Given the description of an element on the screen output the (x, y) to click on. 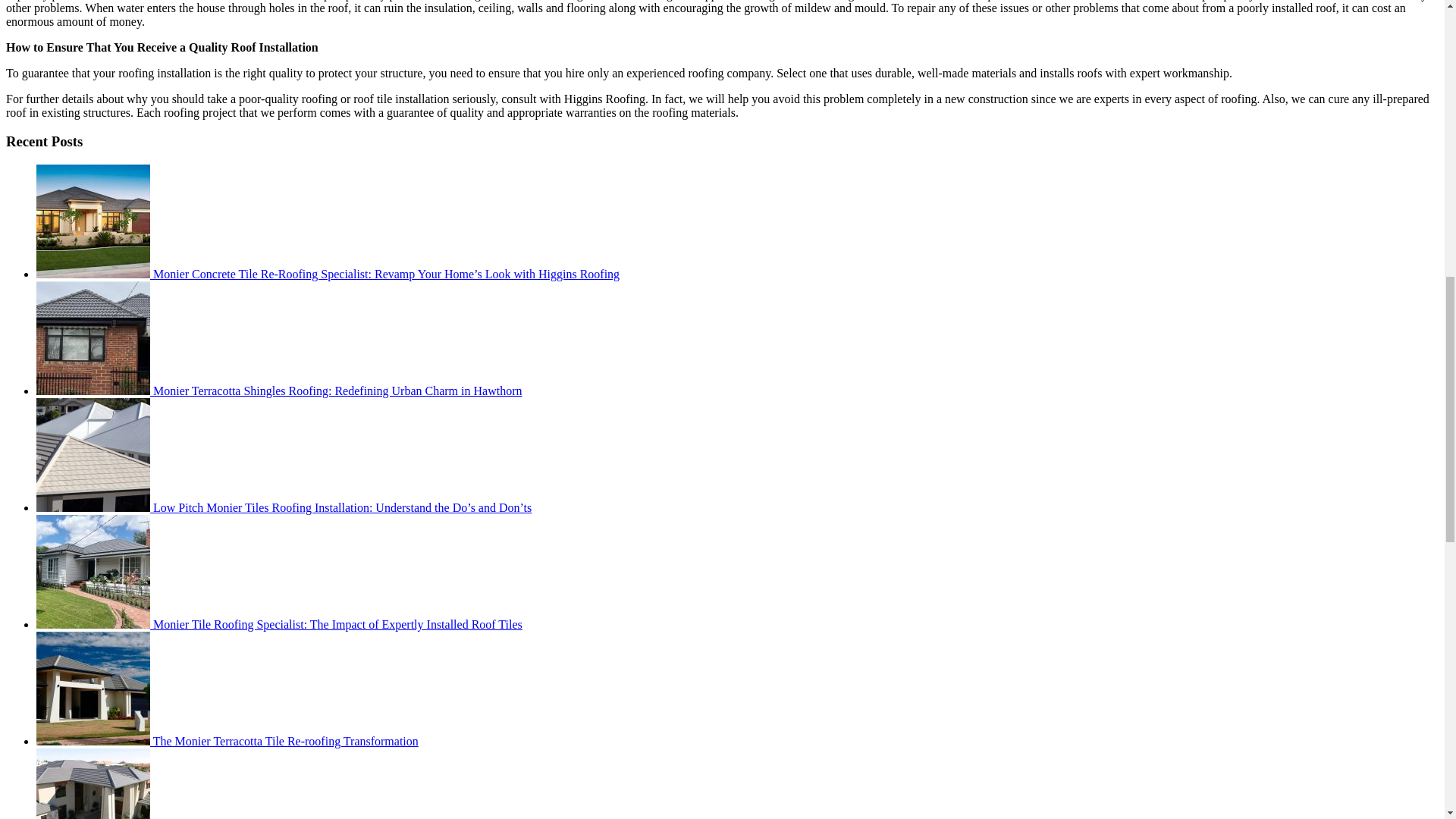
The Monier Terracotta Tile Re-roofing Transformation (227, 740)
